Given the description of an element on the screen output the (x, y) to click on. 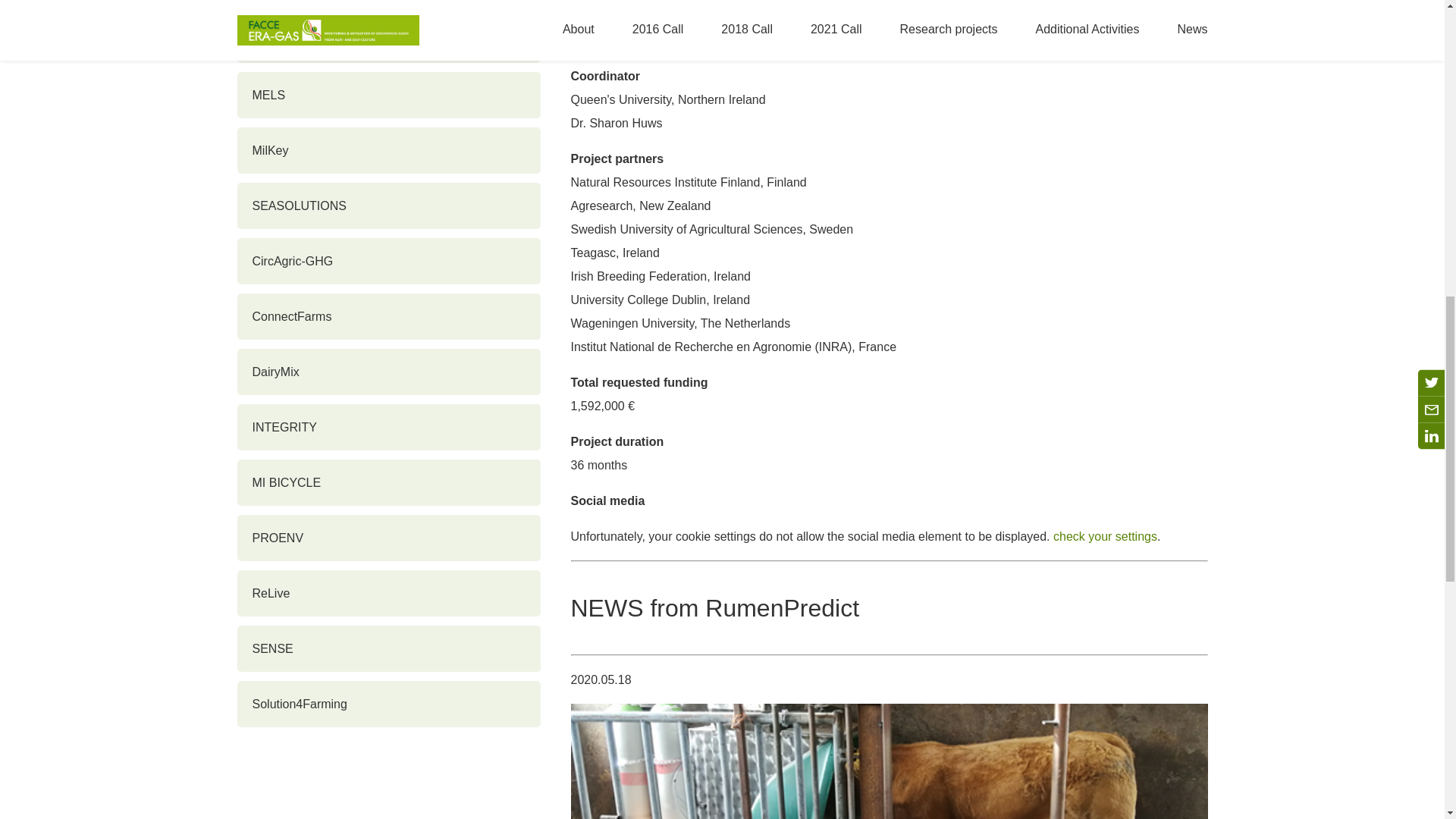
MELS (387, 94)
CircAgric-GHG (387, 261)
MilKey (387, 150)
SENSE (387, 648)
INTEGRITY (387, 427)
M4Models (387, 39)
check your settings (1104, 535)
PROENV (387, 538)
MELS (387, 94)
SEASOLUTIONS (387, 205)
M4Models (387, 39)
ReLive (387, 593)
MI BICYCLE (387, 482)
ConnectFarms (387, 316)
GrASTech (387, 3)
